Given the description of an element on the screen output the (x, y) to click on. 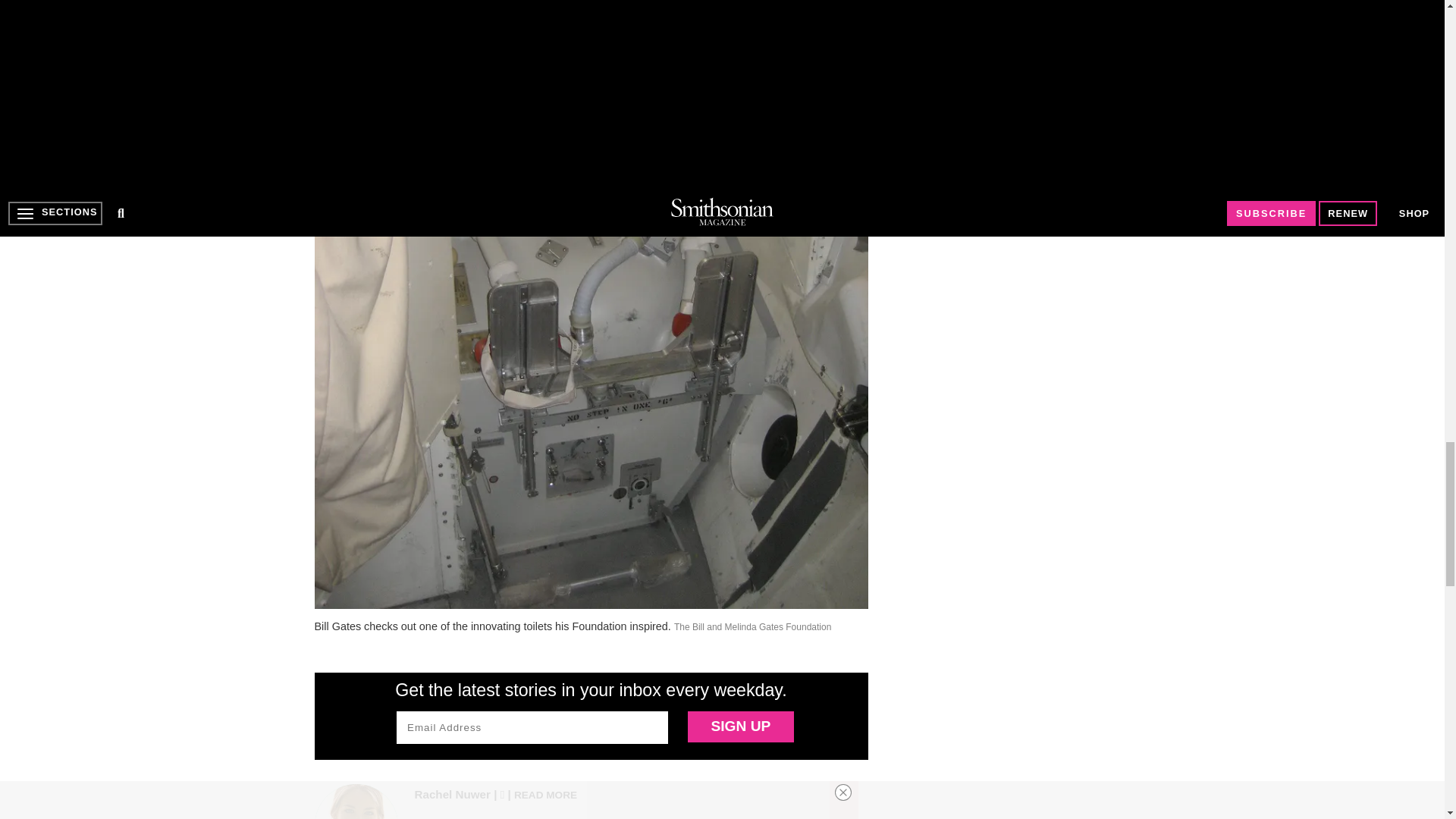
Read more from this author (544, 793)
Sign Up (740, 726)
